Given the description of an element on the screen output the (x, y) to click on. 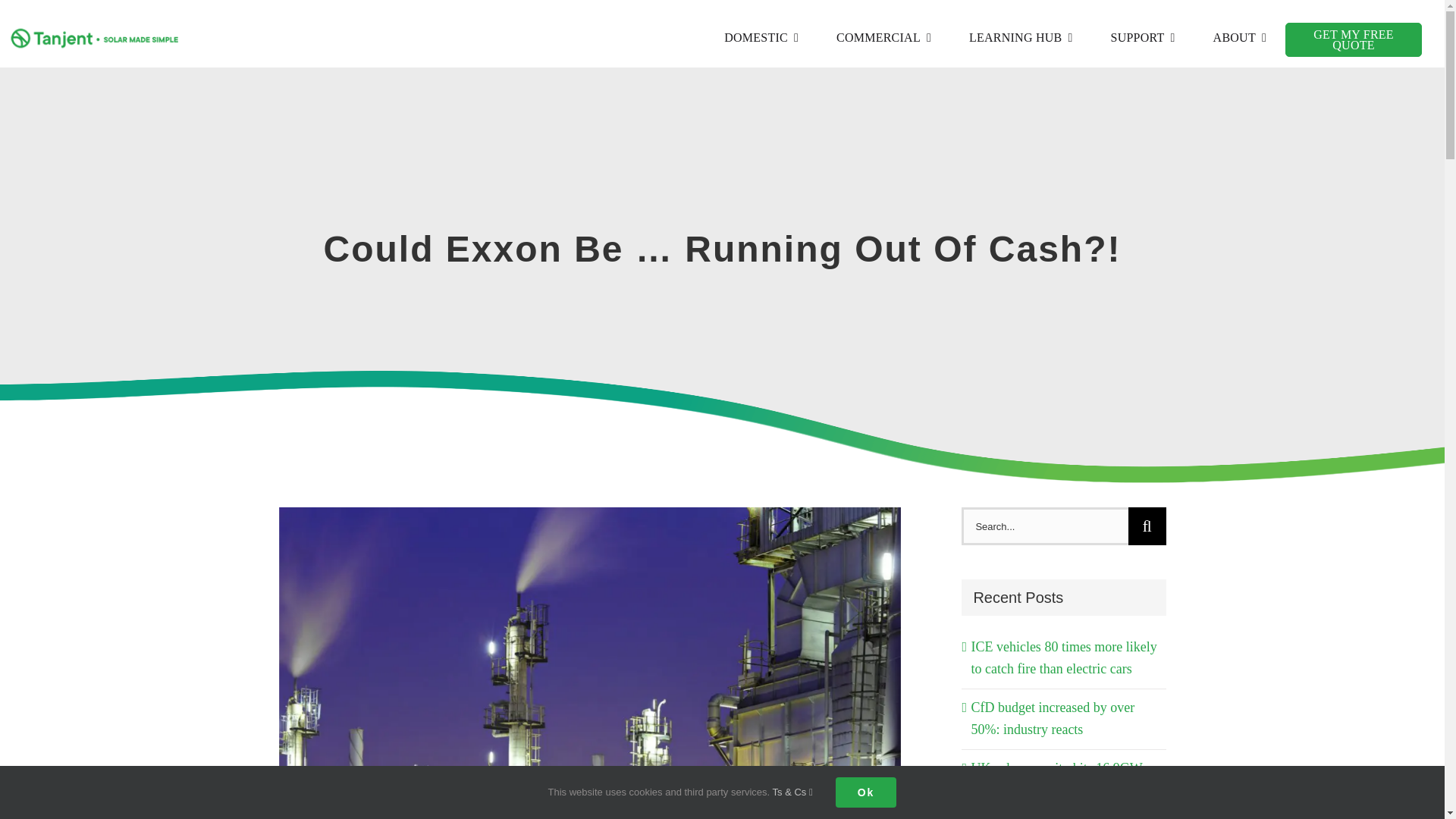
COMMERCIAL (883, 38)
DOMESTIC (760, 38)
LEARNING HUB (1021, 38)
SUPPORT (1142, 38)
ABOUT (1239, 38)
